Given the description of an element on the screen output the (x, y) to click on. 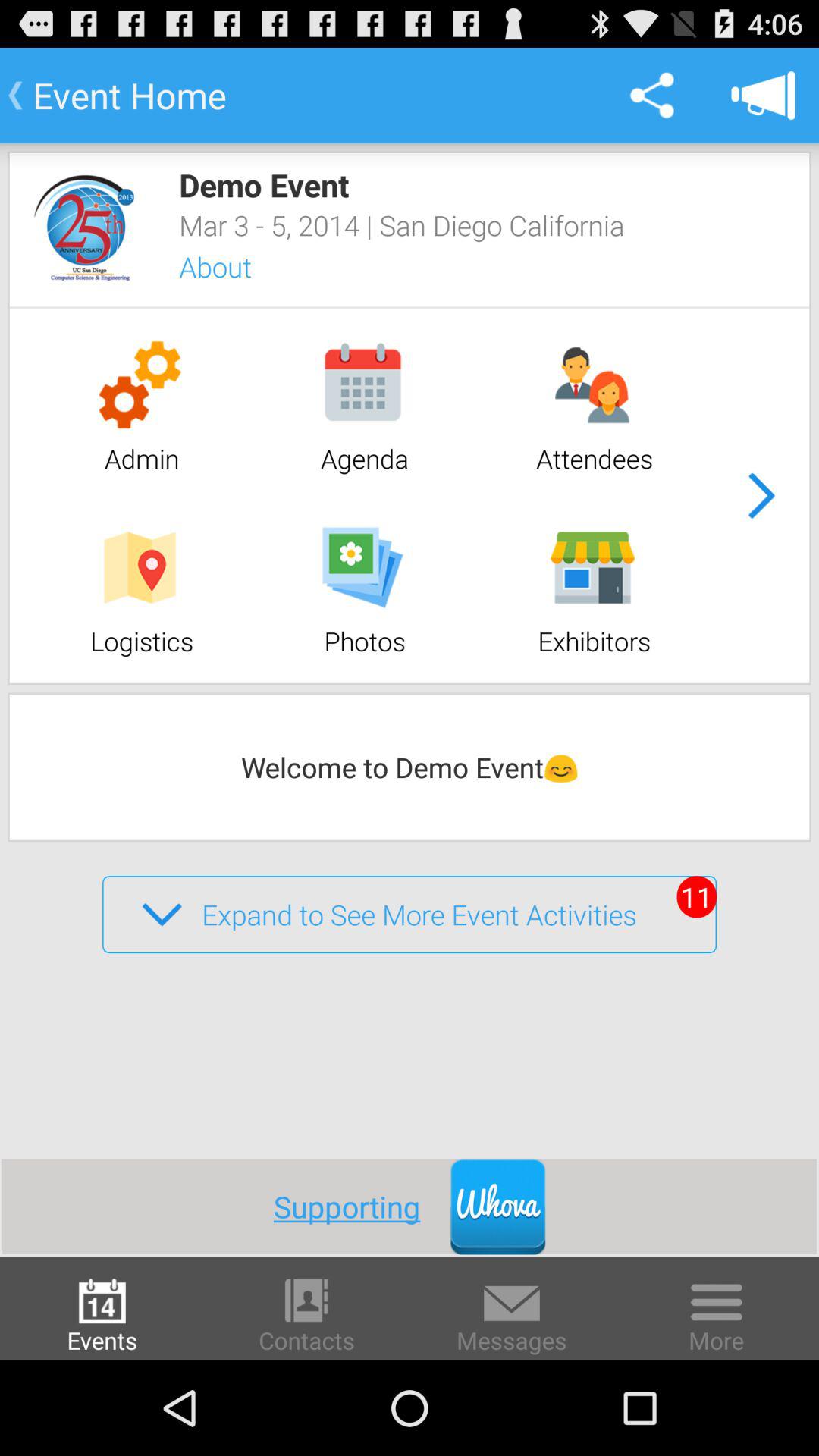
open demo event profile (84, 227)
